Given the description of an element on the screen output the (x, y) to click on. 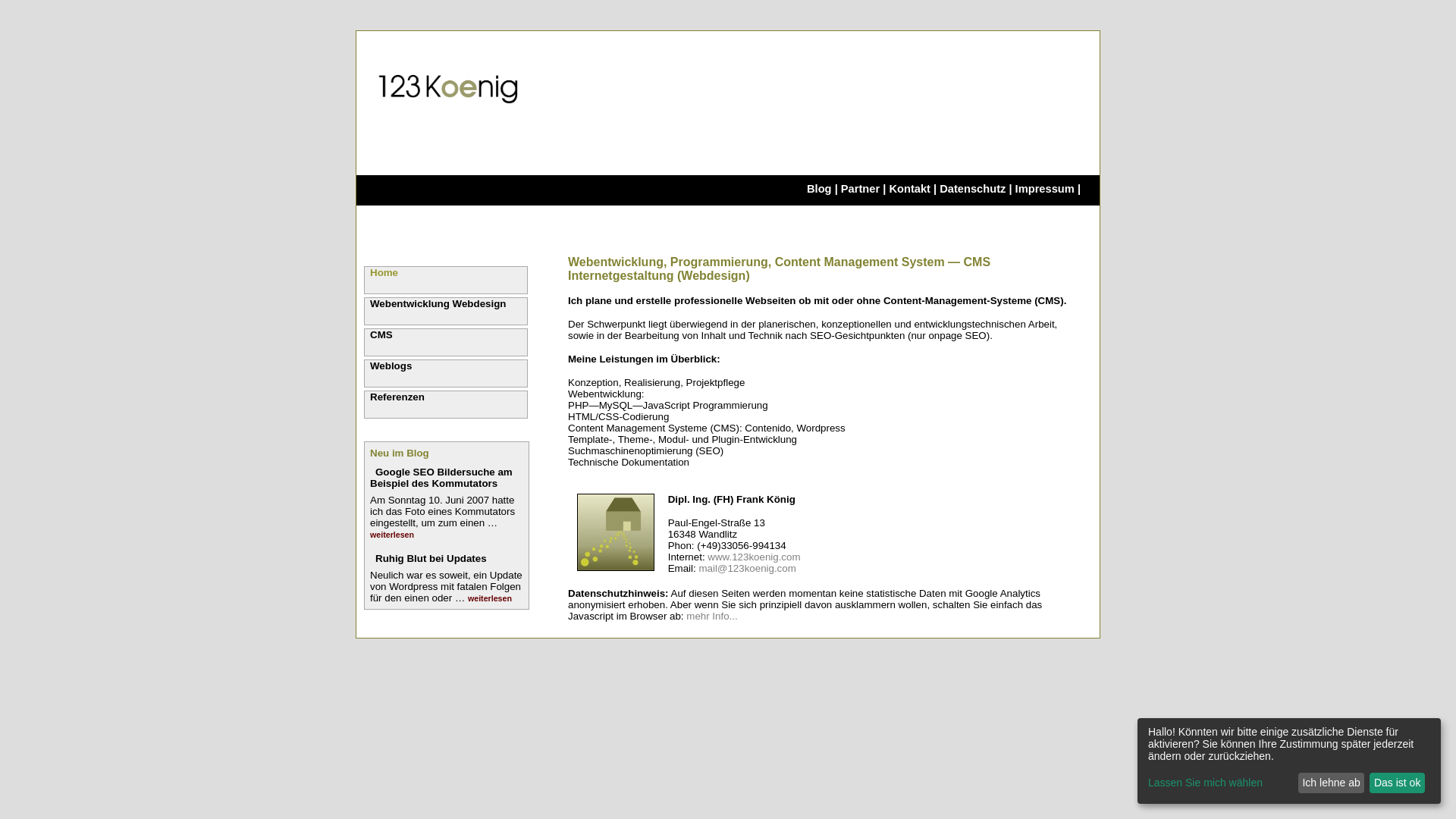
Webentwicklung Webdesign Element type: text (445, 311)
Kontakt Element type: text (909, 188)
Weblogs Element type: text (445, 373)
Das ist ok Element type: text (1396, 782)
Referenzen Element type: text (445, 404)
www.123koenig.com Element type: text (753, 556)
weiterlesen Element type: text (489, 597)
Datenschutz Element type: text (972, 188)
Partner Element type: text (859, 188)
CMS Element type: text (445, 342)
Blog Element type: text (818, 188)
Impressum Element type: text (1044, 188)
mehr Info... Element type: text (711, 615)
mail@123koenig.com Element type: text (746, 568)
Home Element type: text (445, 280)
Google SEO Bildersuche am Beispiel des Kommutators Element type: text (441, 477)
weiterlesen Element type: text (392, 534)
Ich lehne ab Element type: text (1331, 782)
Ruhig Blut bei Updates Element type: text (431, 558)
